Given the description of an element on the screen output the (x, y) to click on. 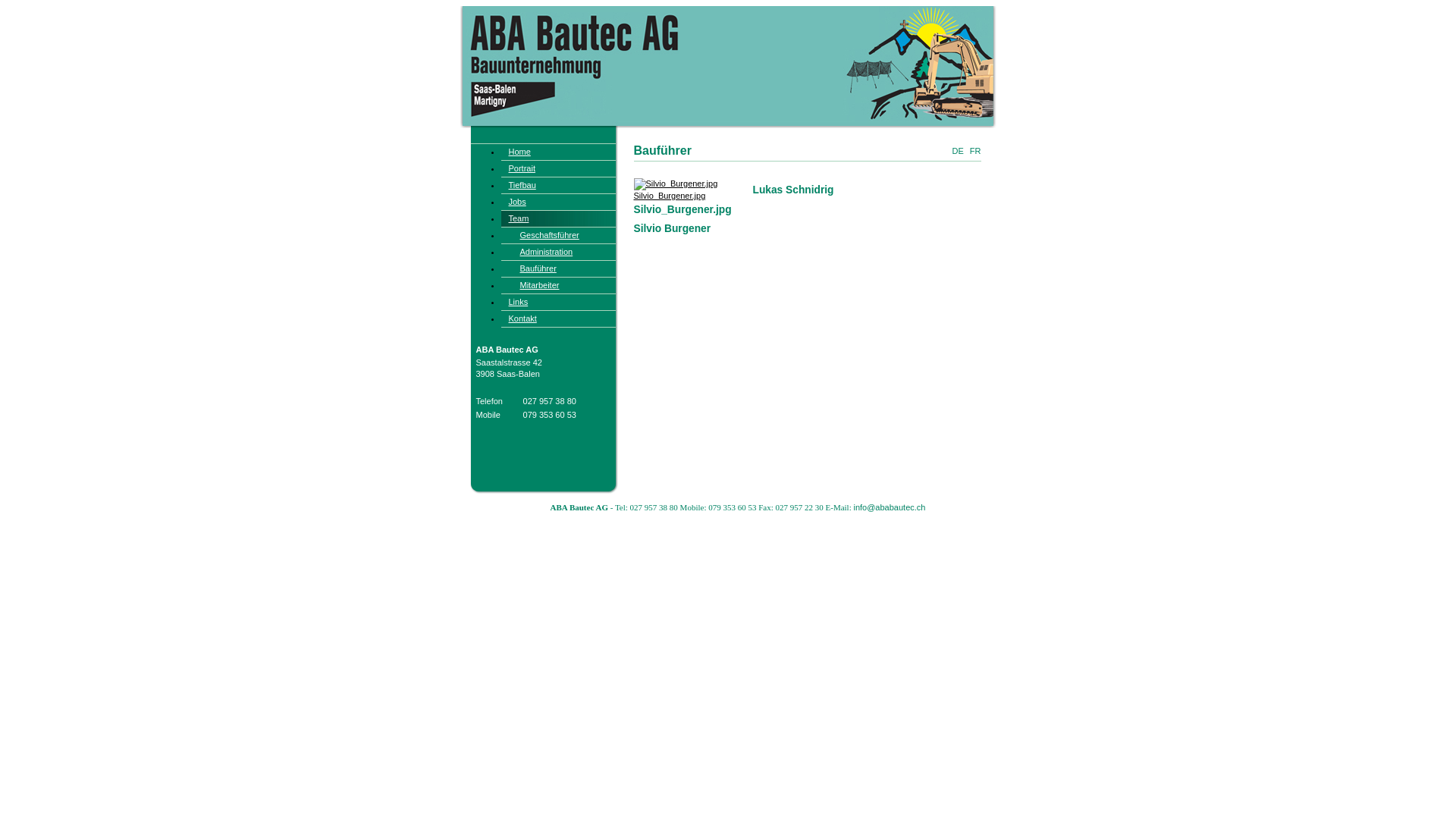
Mitarbeiter Element type: text (557, 285)
Links Element type: text (557, 302)
Home Element type: text (557, 152)
FR Element type: text (975, 150)
Team Element type: text (557, 218)
Kontakt Element type: text (557, 318)
info@ababautec.ch Element type: text (889, 506)
Silvio_Burgener.jpg Element type: text (675, 189)
Administration Element type: text (557, 252)
Jobs Element type: text (557, 202)
DE Element type: text (957, 150)
Portrait Element type: text (557, 168)
Tiefbau Element type: text (557, 185)
